Given the description of an element on the screen output the (x, y) to click on. 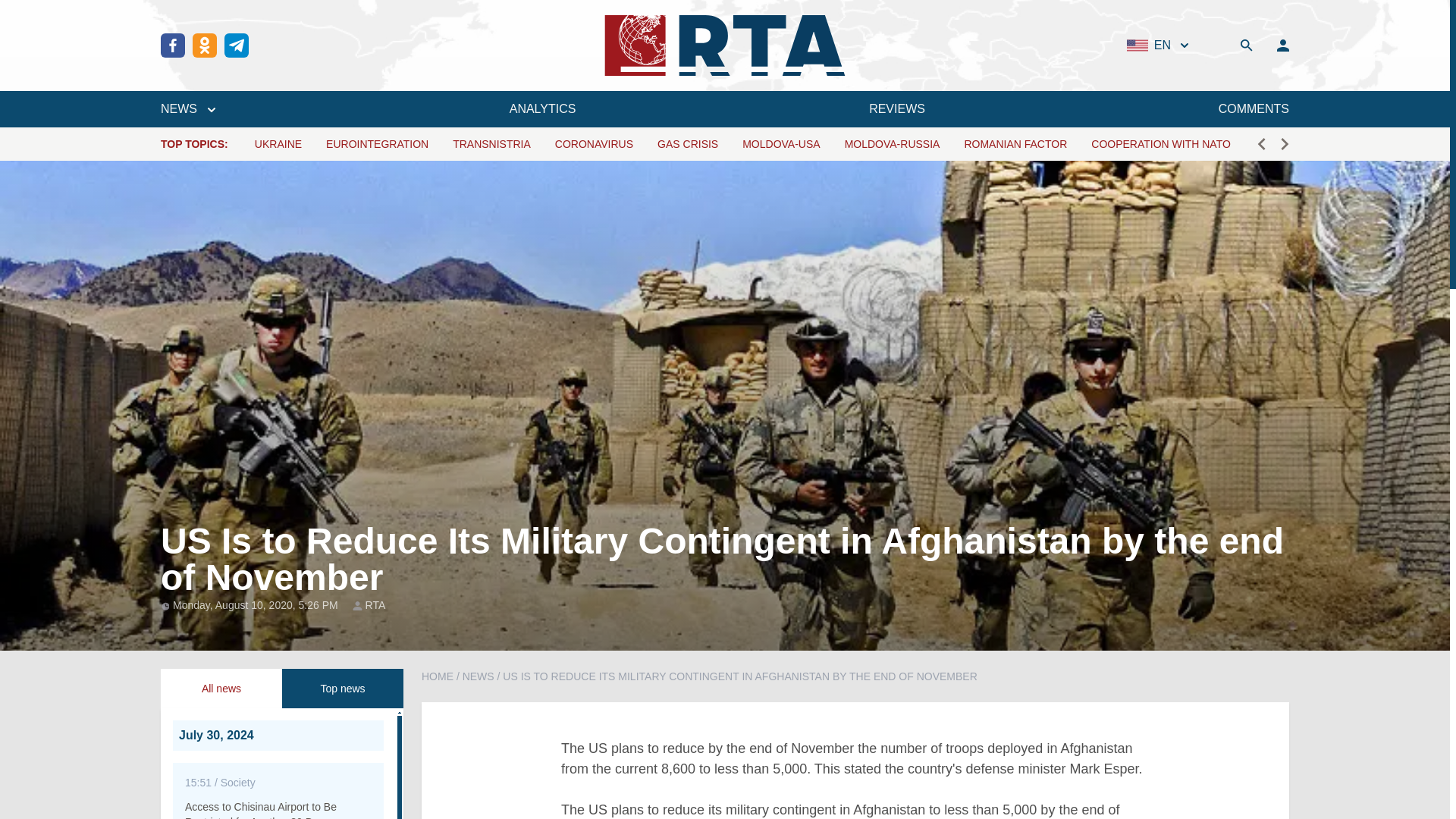
Top news (342, 688)
TRANSNISTRIA (491, 143)
CORONAVIRUS (593, 143)
ROMANIAN FACTOR (1015, 143)
GAS CRISIS (687, 143)
All news (221, 688)
MOLDOVA-USA (780, 143)
COMMENTS (1253, 108)
ANALYTICS (542, 108)
Monday, August 10, 2020, 5:26 PM (256, 604)
RTA (375, 604)
UKRAINE (277, 143)
REVIEWS (896, 108)
NEWS (187, 108)
